Given the description of an element on the screen output the (x, y) to click on. 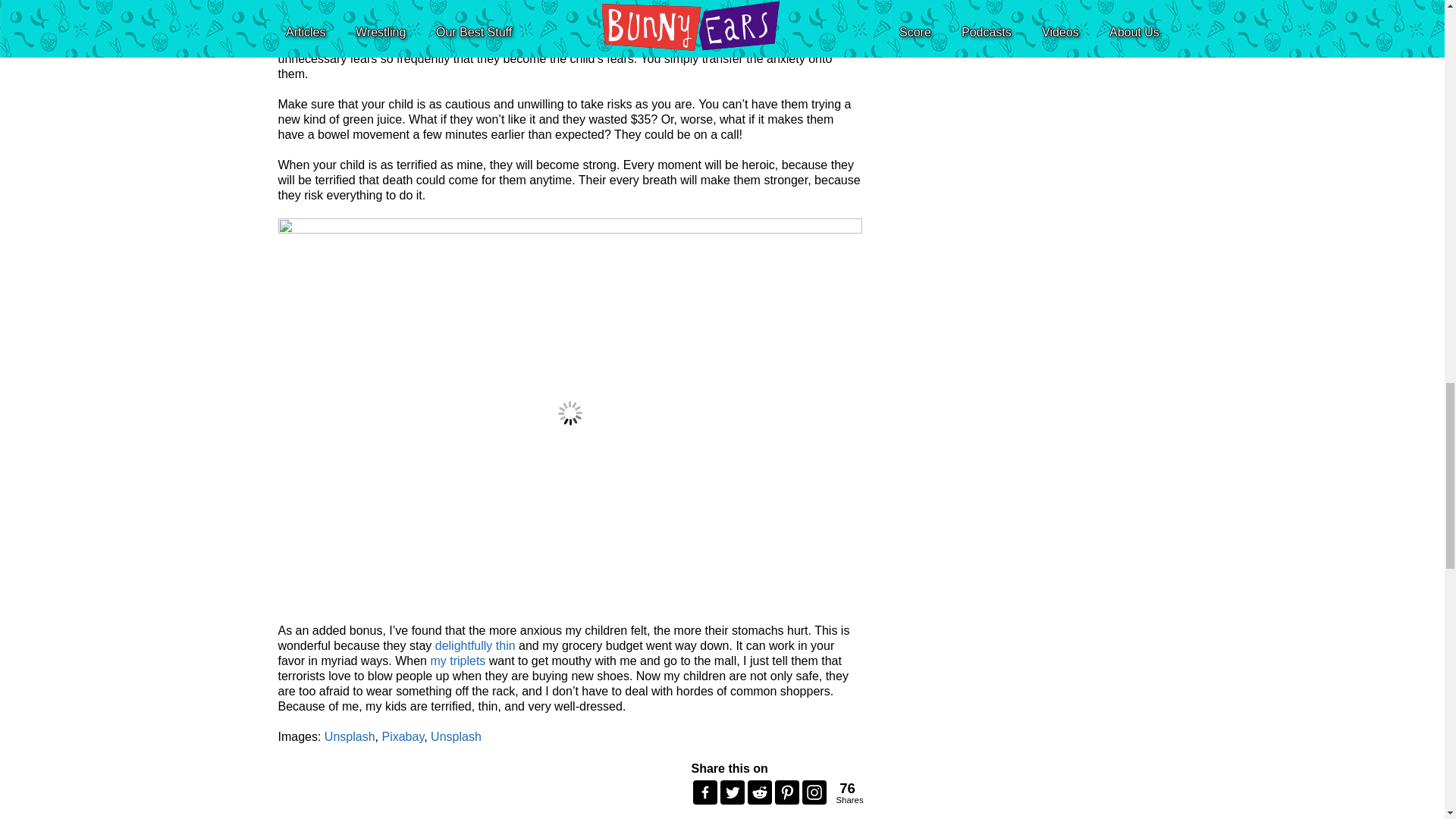
Facebook (705, 792)
Reddit (759, 792)
Unsplash (455, 736)
Instagram (814, 792)
Pixabay (402, 736)
delightfully thin (844, 792)
Total Shares (475, 645)
Unsplash (847, 793)
my triplets (349, 736)
